Given the description of an element on the screen output the (x, y) to click on. 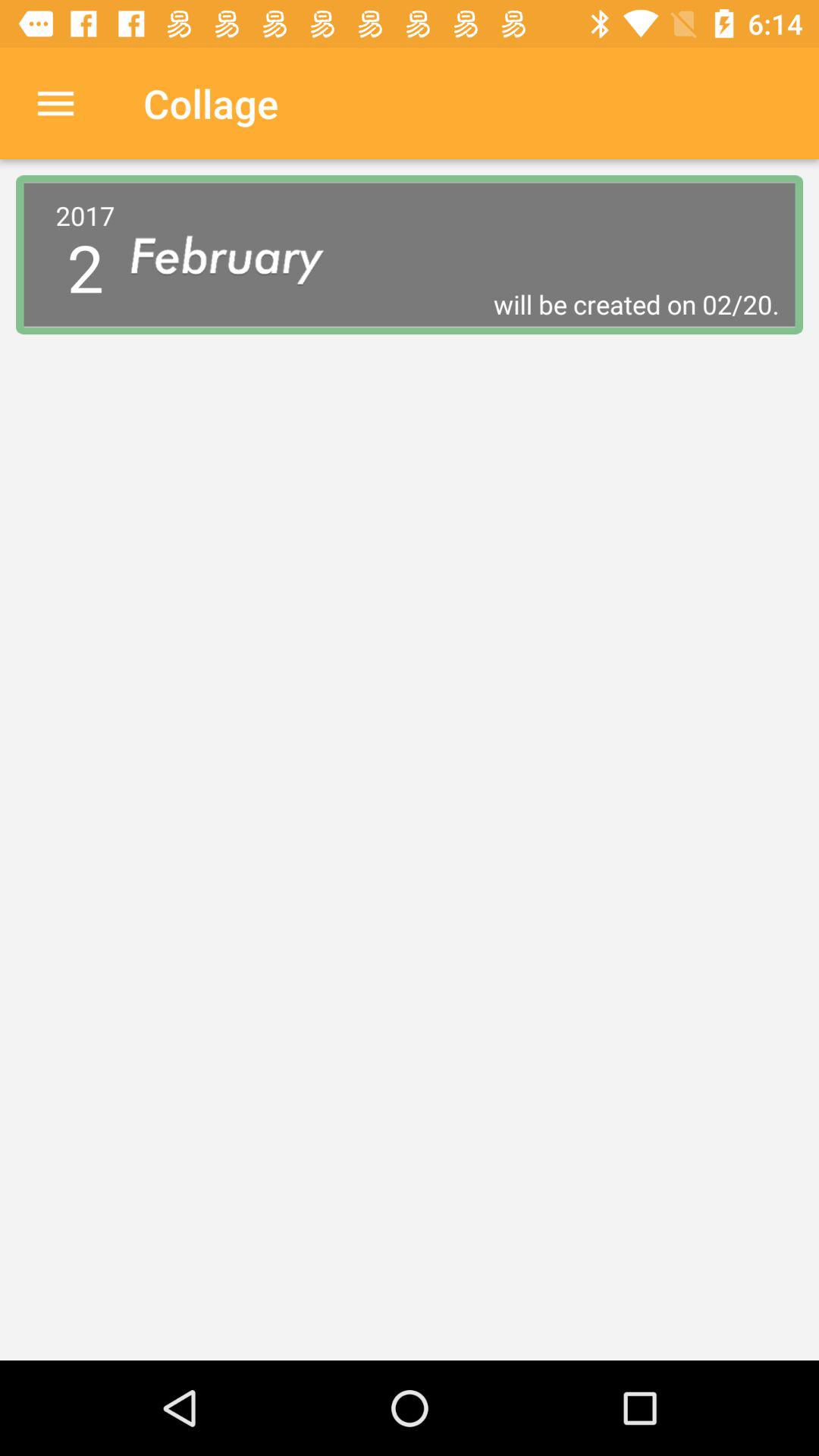
launch the icon to the right of the 2017
2 item (454, 303)
